Given the description of an element on the screen output the (x, y) to click on. 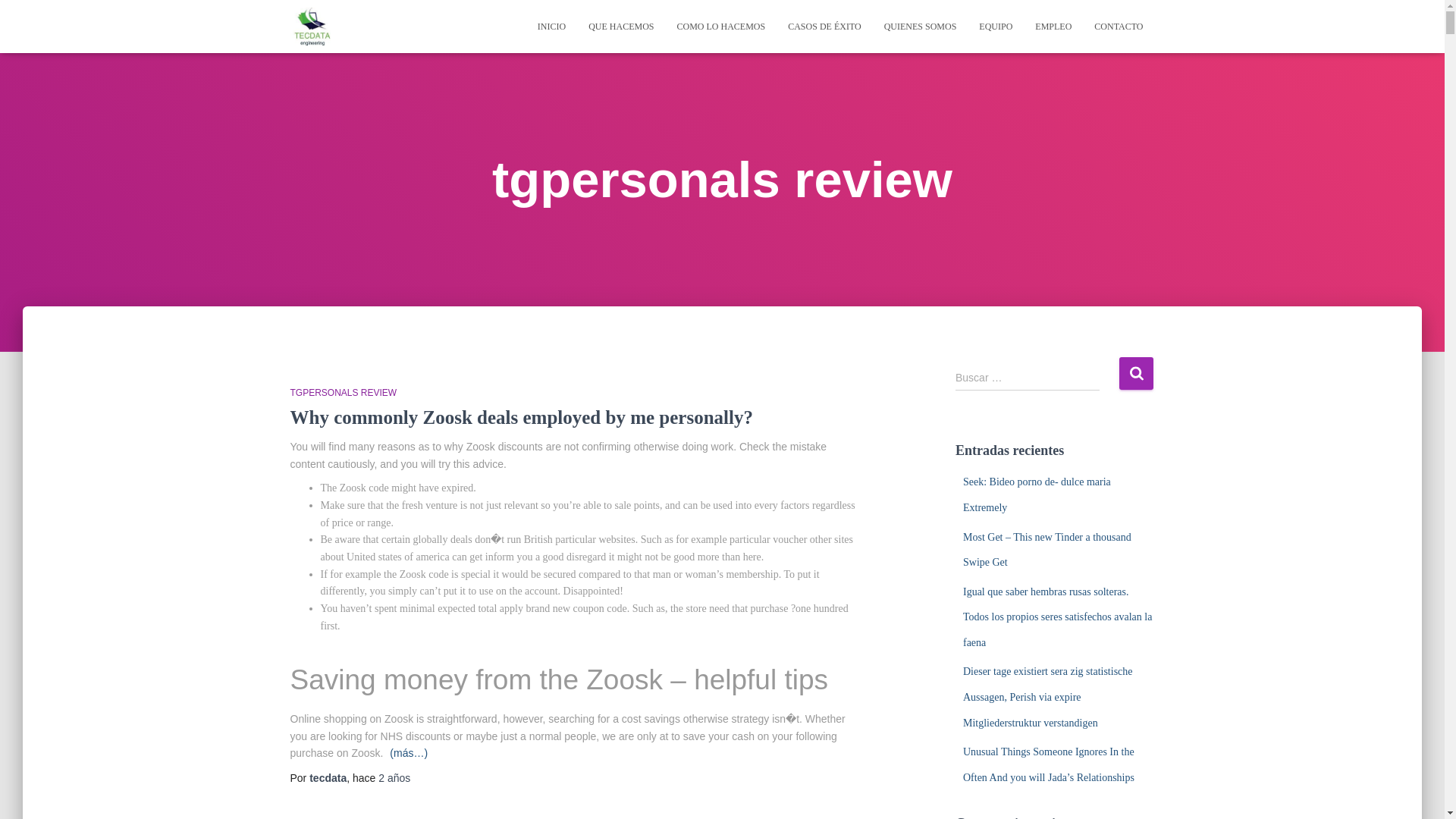
Buscar (1136, 373)
tecdata (327, 777)
TGPERSONALS REVIEW (342, 392)
Buscar (1136, 373)
EMPLEO (1053, 26)
Why commonly Zoosk deals employed by me personally? (520, 417)
QUIENES SOMOS (920, 26)
QUE HACEMOS (620, 26)
